Given the description of an element on the screen output the (x, y) to click on. 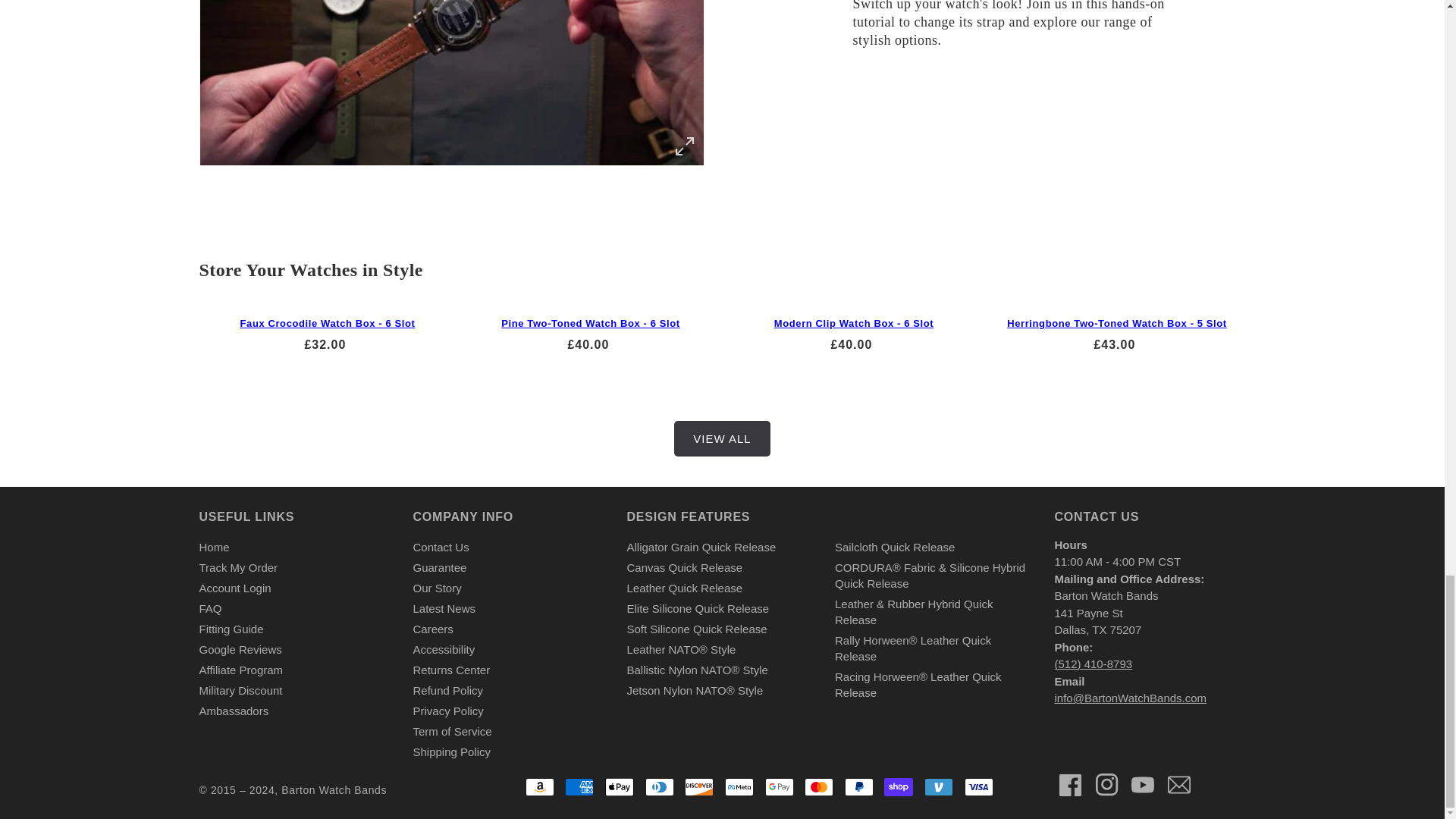
Apple Pay (619, 787)
American Express (579, 787)
Amazon (539, 787)
Ready for a fresh look? (451, 82)
